Given the description of an element on the screen output the (x, y) to click on. 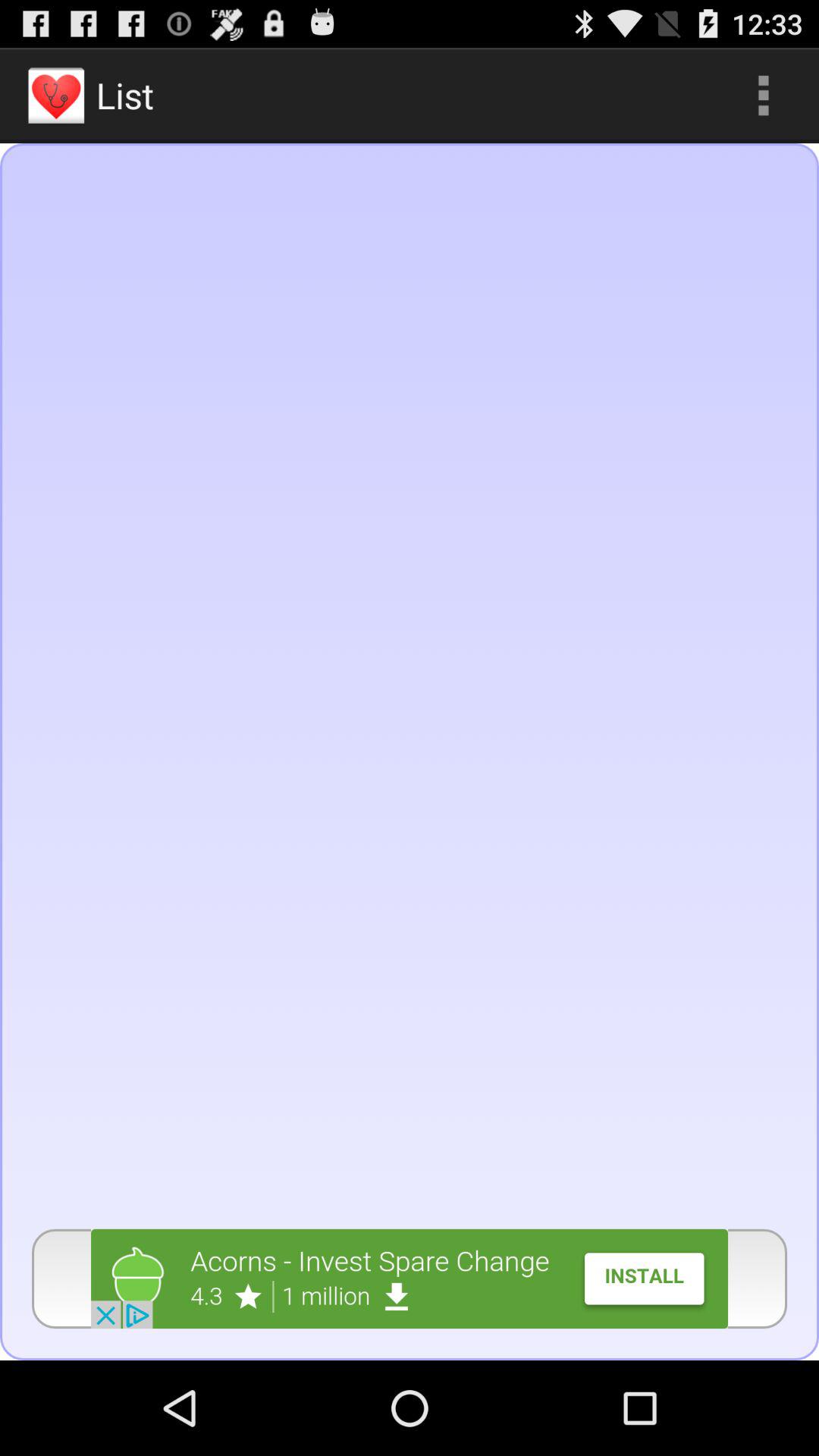
pop-up advertisement (409, 1278)
